Given the description of an element on the screen output the (x, y) to click on. 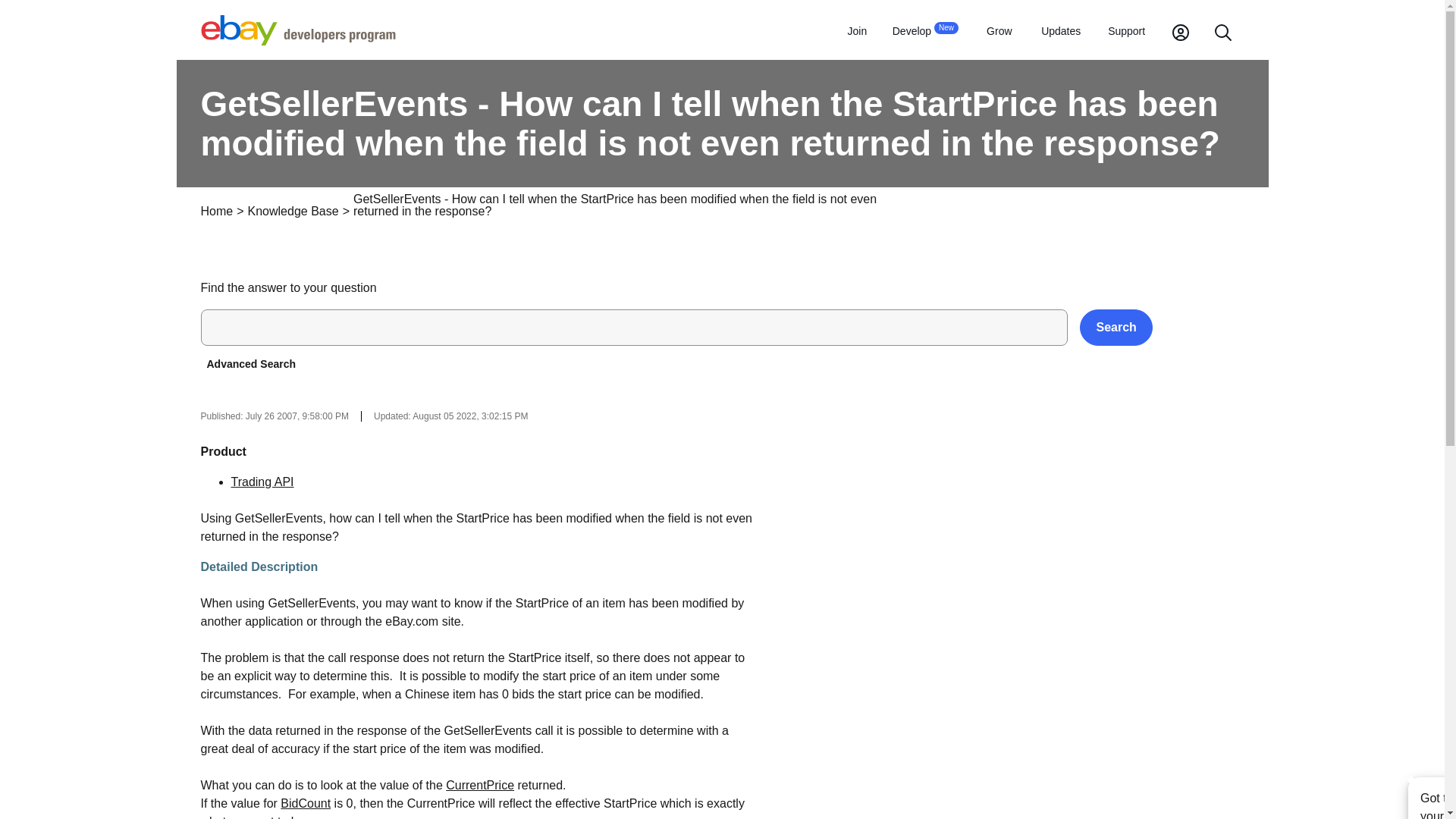
Join (857, 31)
